Given the description of an element on the screen output the (x, y) to click on. 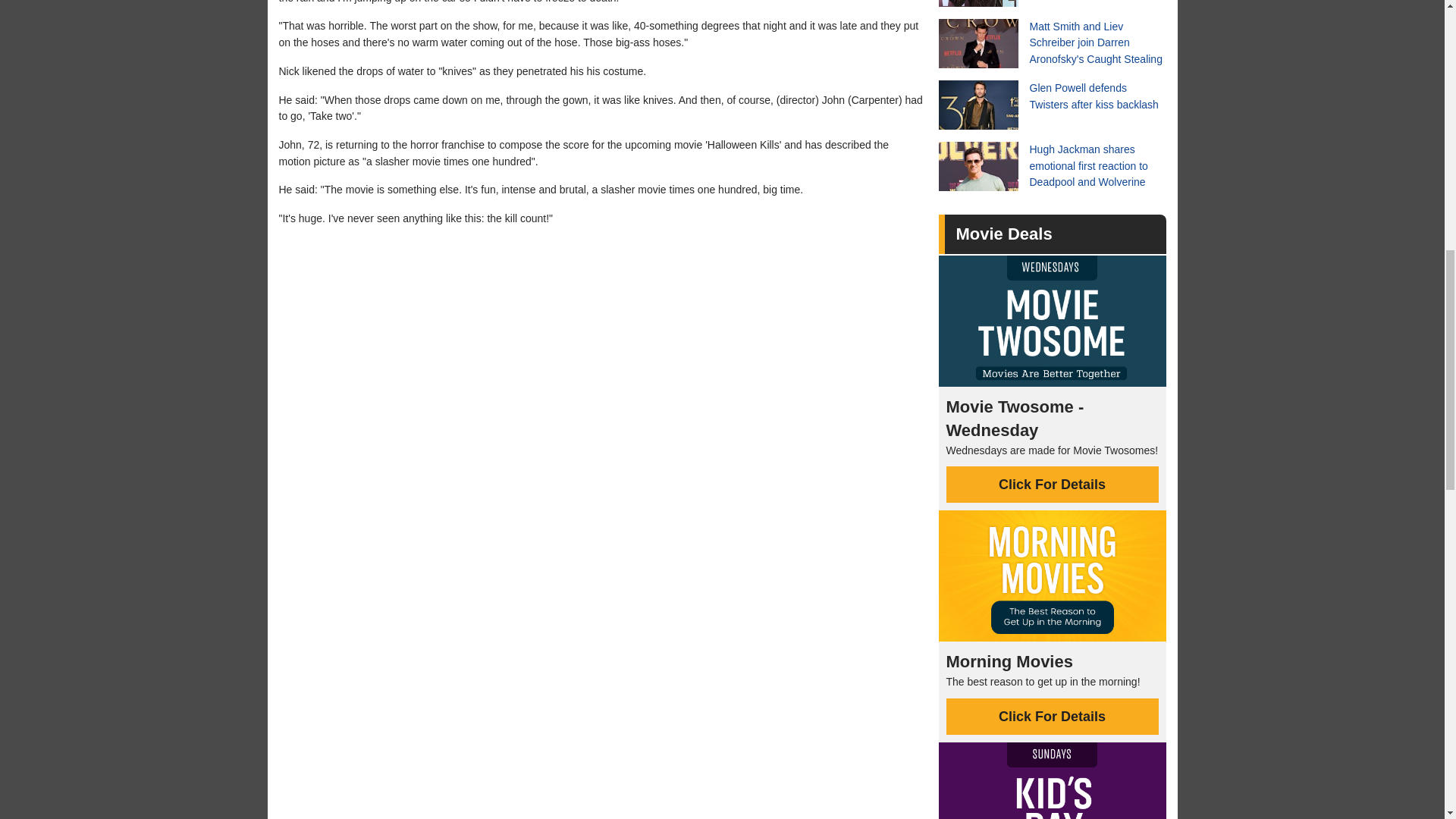
Glen Powell defends Twisters after kiss backlash (1052, 104)
Click For Details (1052, 716)
Click For Details (1052, 484)
Movie Deals (1003, 233)
Nicolas Cage to star as John Madden in biopic (1052, 3)
Nicolas Cage to star as John Madden in biopic (1052, 3)
